Given the description of an element on the screen output the (x, y) to click on. 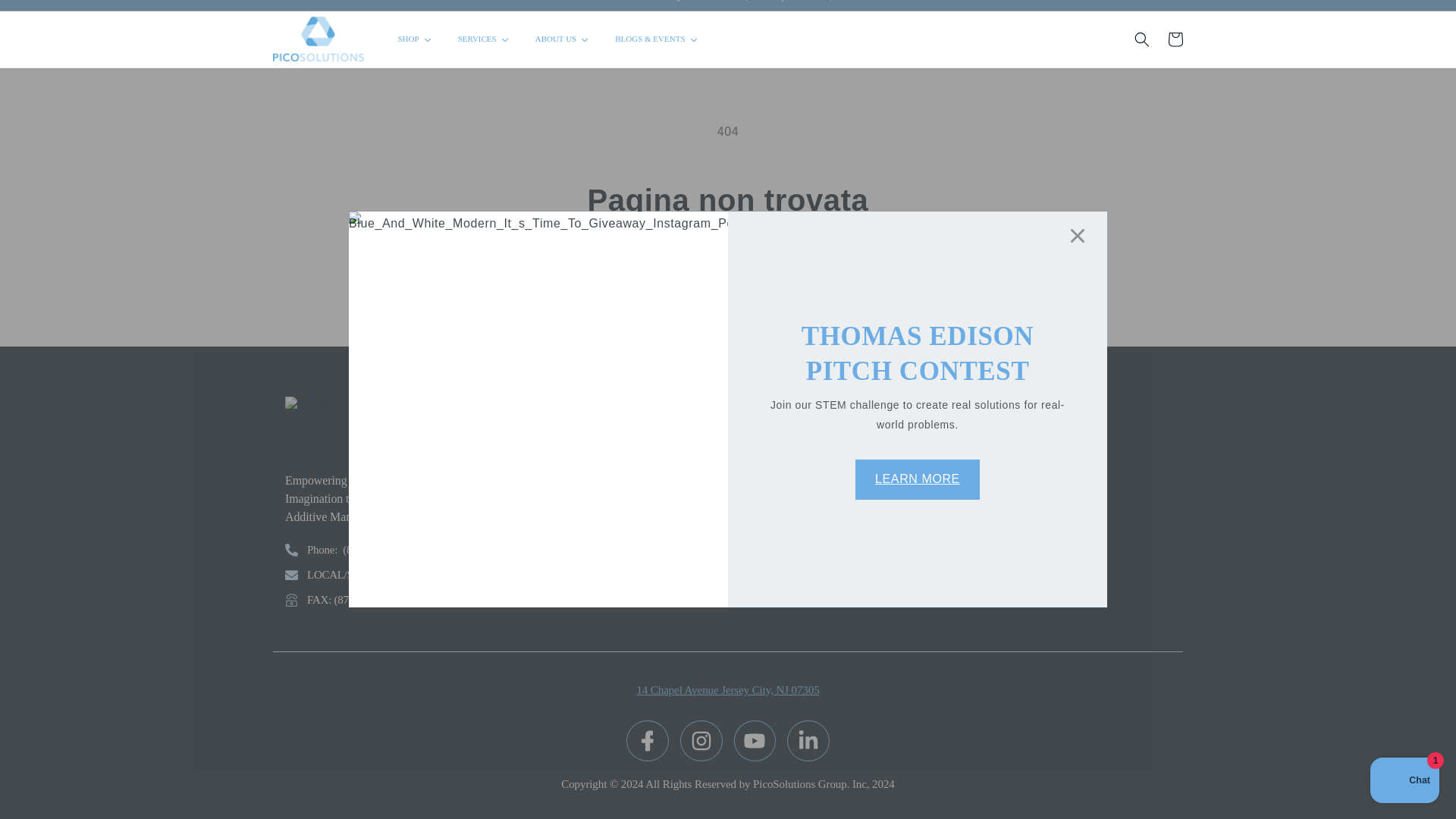
SHOP (415, 38)
SERVICES (483, 38)
SHOP (415, 38)
Chat negozio online di Shopify (1404, 764)
ABOUT US (562, 38)
SERVICES (483, 38)
ABOUT US (562, 38)
Carrello (1175, 39)
Vai direttamente ai contenuti (45, 8)
